Given the description of an element on the screen output the (x, y) to click on. 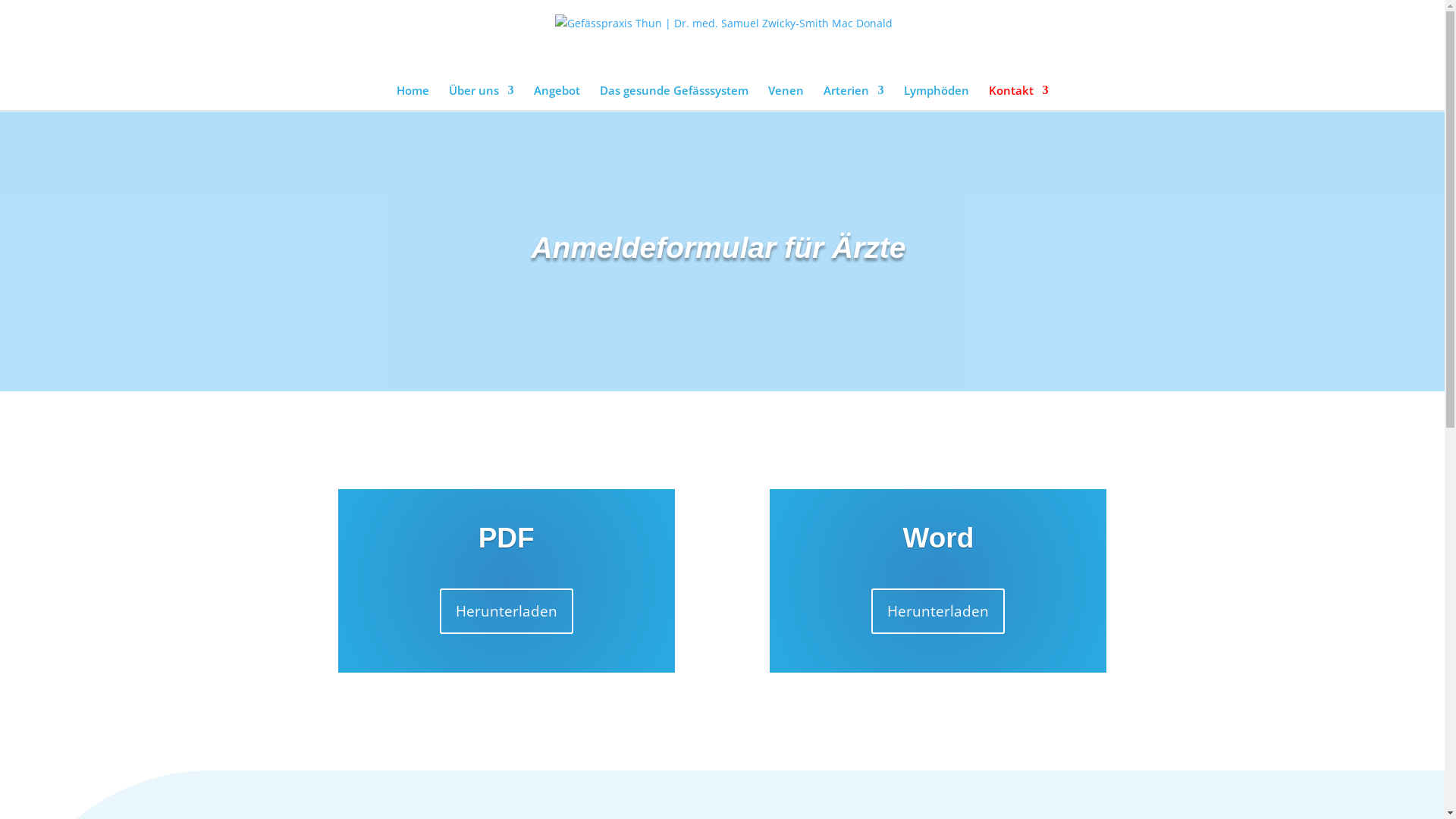
Kontakt Element type: text (1018, 96)
Herunterladen Element type: text (937, 610)
Arterien Element type: text (853, 96)
Angebot Element type: text (556, 96)
Home Element type: text (411, 96)
Herunterladen Element type: text (506, 610)
Venen Element type: text (785, 96)
